Given the description of an element on the screen output the (x, y) to click on. 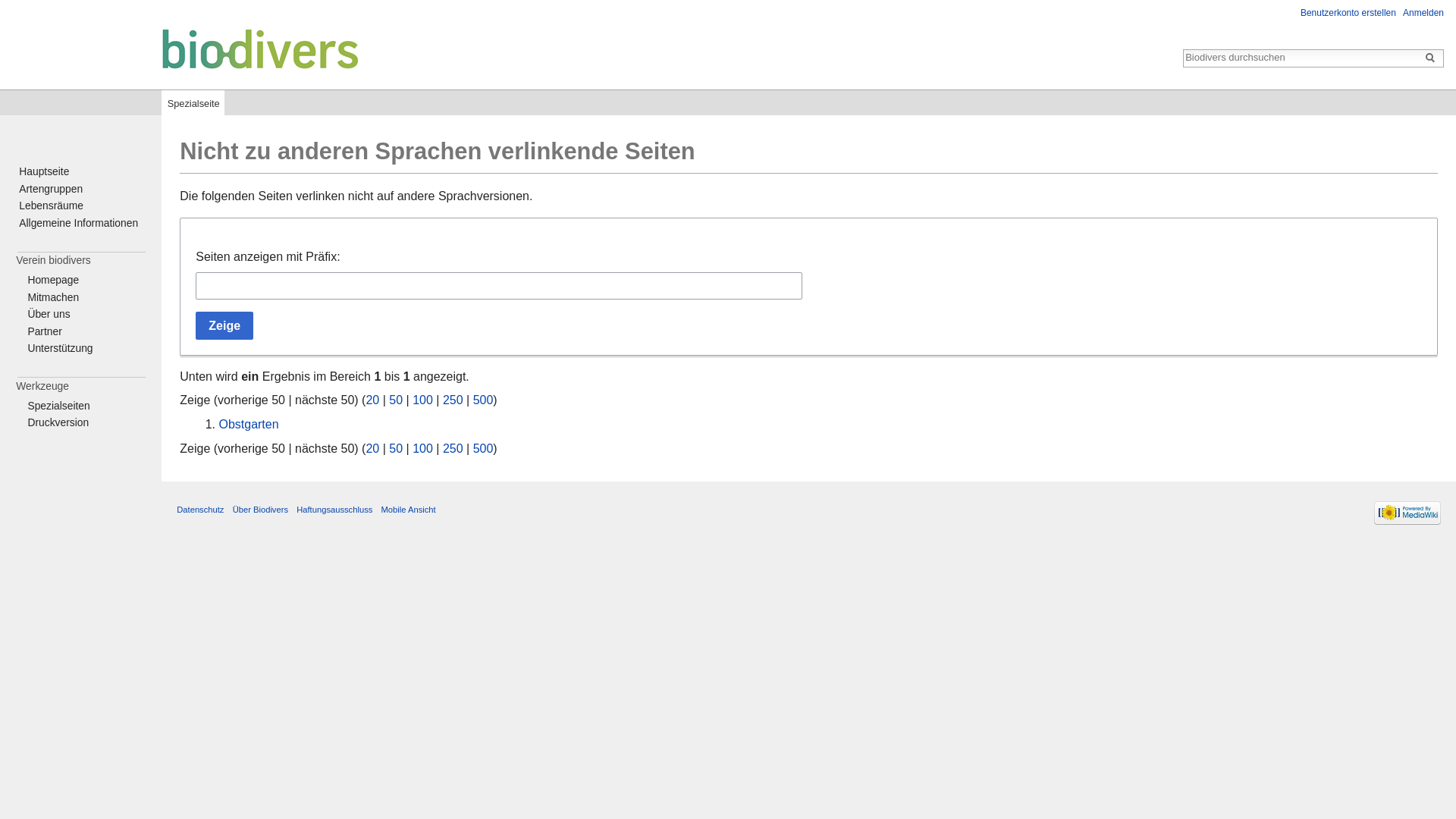
Biodivers durchsuchen [alt-shift-f] Element type: hover (1300, 57)
Spezialseite Element type: text (193, 99)
50 Element type: text (395, 399)
Benutzerkonto erstellen Element type: text (1348, 12)
Homepage Element type: text (52, 279)
100 Element type: text (422, 447)
100 Element type: text (422, 399)
Anmelden Element type: text (1422, 12)
Obstgarten Element type: text (248, 423)
Allgemeine Informationen Element type: text (78, 222)
Zeige Element type: text (224, 325)
Haftungsausschluss Element type: text (334, 509)
20 Element type: text (372, 399)
Spezialseiten Element type: text (58, 405)
Datenschutz Element type: text (199, 509)
Hauptseite Element type: text (43, 171)
250 Element type: text (452, 447)
50 Element type: text (395, 447)
Artengruppen Element type: text (50, 188)
Mitmachen Element type: text (52, 297)
20 Element type: text (372, 447)
Partner Element type: text (44, 331)
250 Element type: text (452, 399)
500 Element type: text (483, 399)
500 Element type: text (483, 447)
Druckversion Element type: text (57, 422)
Seite Element type: text (1430, 58)
Hauptseite Element type: hover (183, 48)
Mobile Ansicht Element type: text (408, 509)
